Given the description of an element on the screen output the (x, y) to click on. 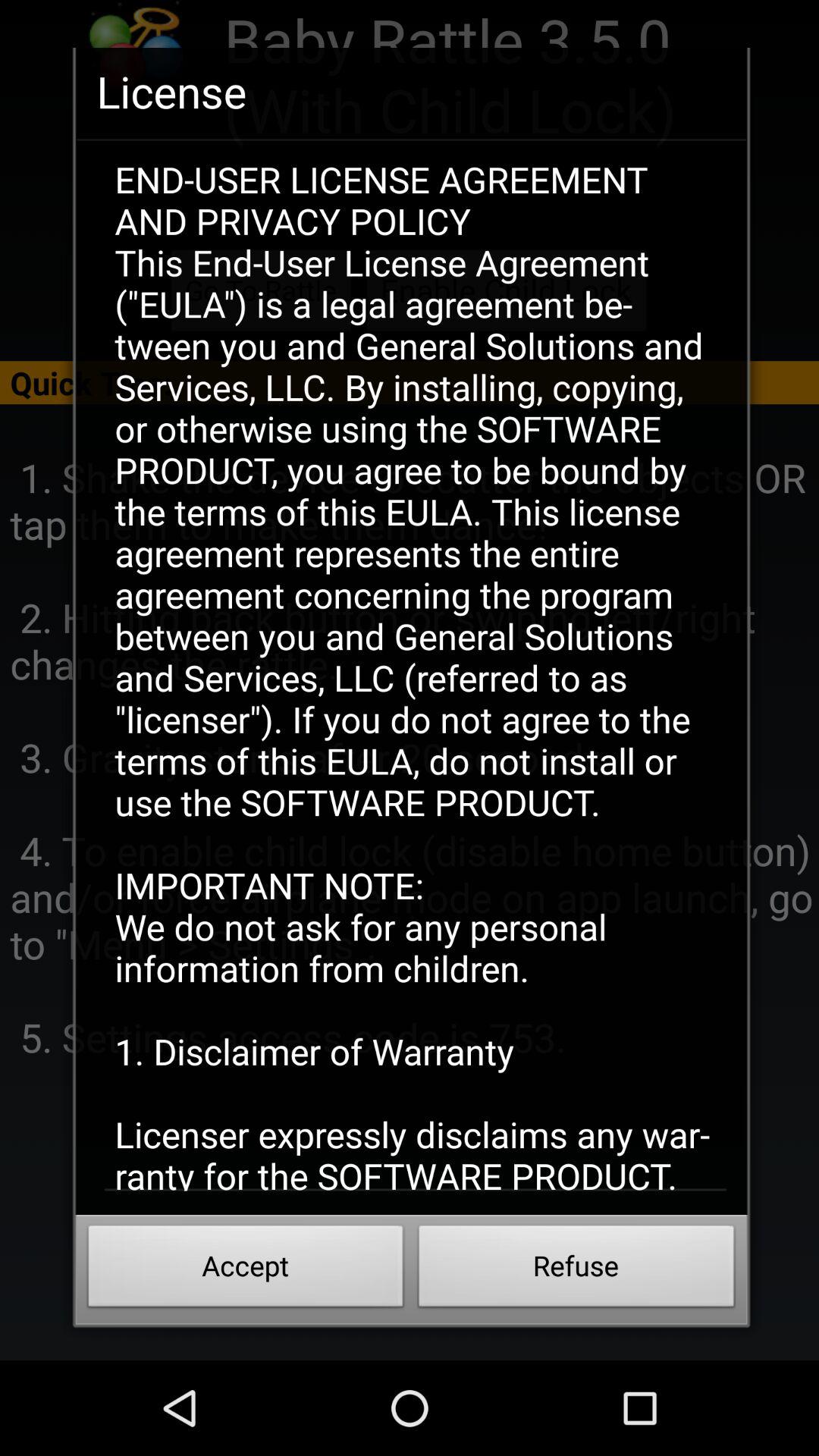
turn on the icon below the end user license item (576, 1270)
